Given the description of an element on the screen output the (x, y) to click on. 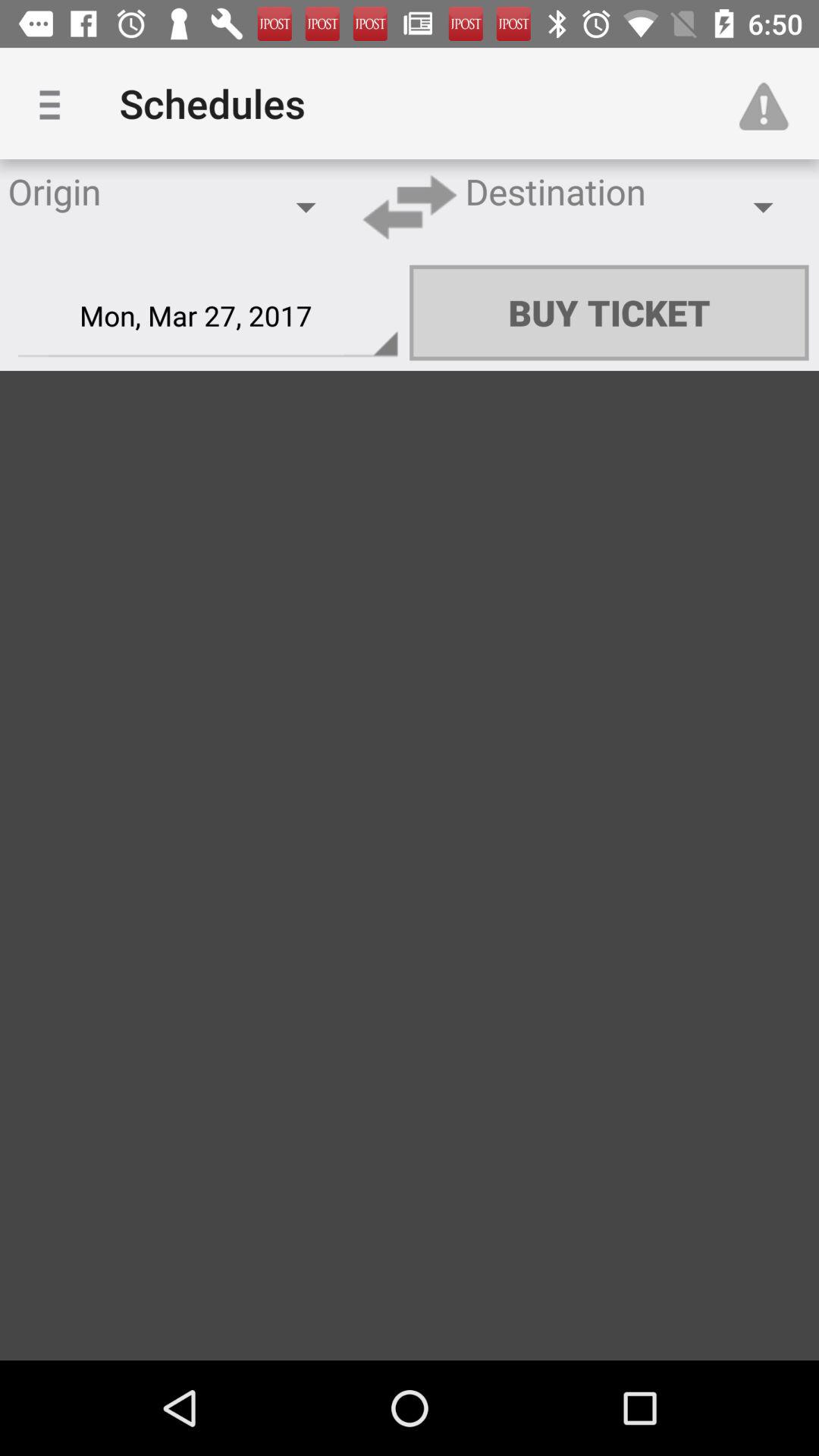
press item above origin item (55, 103)
